Given the description of an element on the screen output the (x, y) to click on. 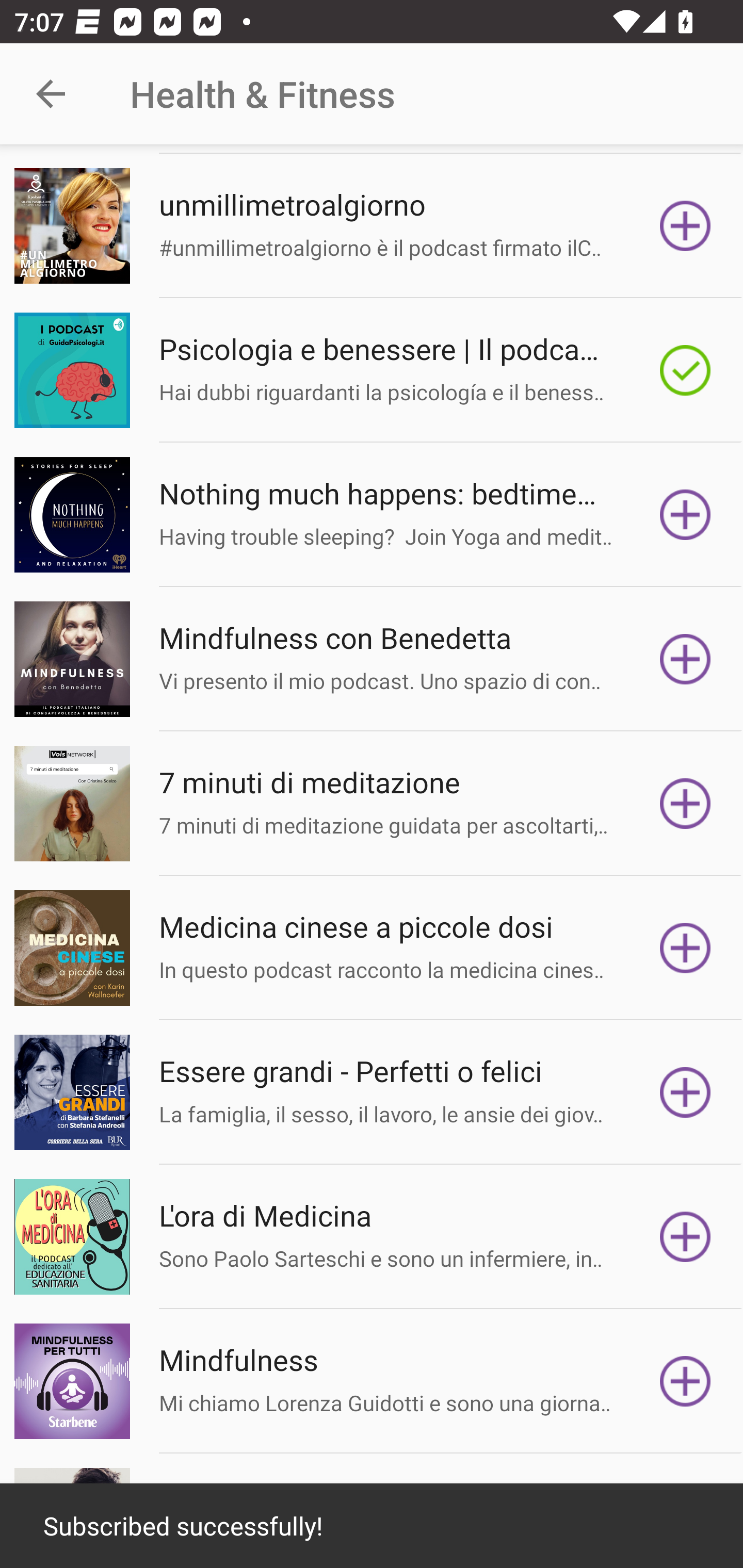
Navigate up (50, 93)
Subscribe (685, 225)
Subscribed (685, 370)
Subscribe (685, 514)
Subscribe (685, 659)
Subscribe (685, 803)
Subscribe (685, 947)
Subscribe (685, 1092)
Subscribe (685, 1237)
Subscribe (685, 1381)
Subscribed successfully! (371, 1525)
